Given the description of an element on the screen output the (x, y) to click on. 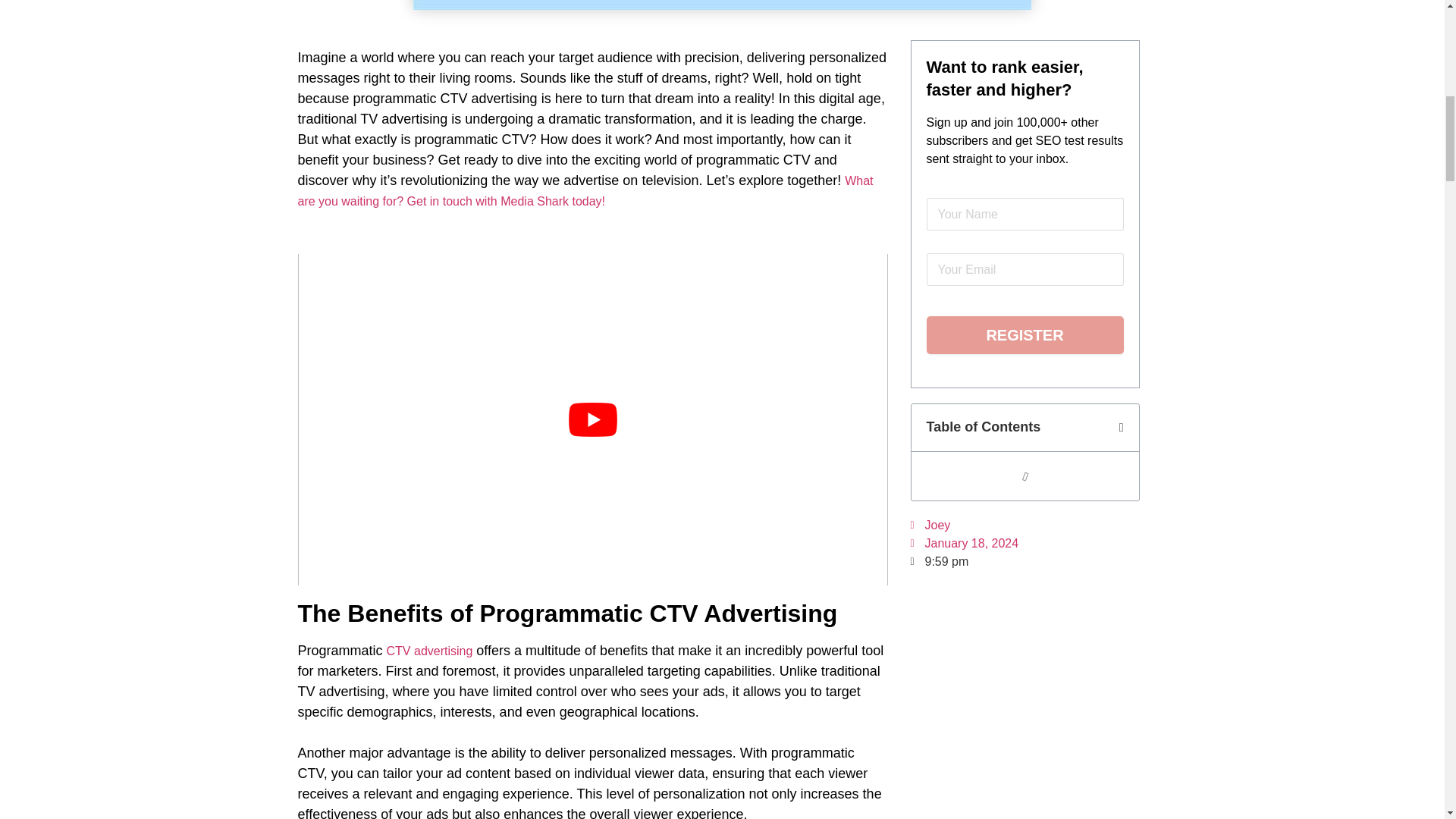
REGISTER (1025, 334)
CTV advertising (430, 650)
January 18, 2024 (963, 543)
Joey (930, 525)
